Given the description of an element on the screen output the (x, y) to click on. 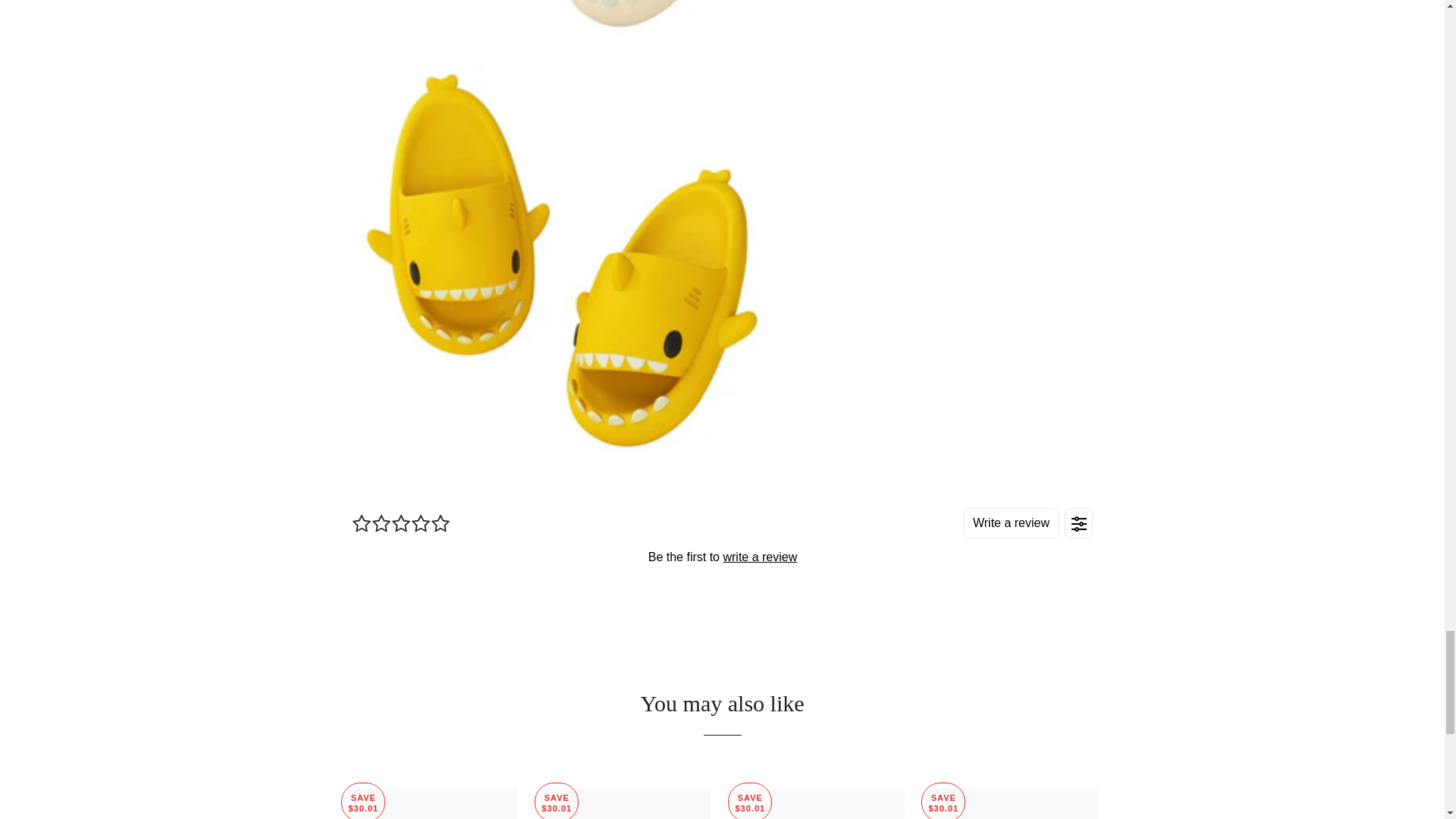
Product reviews widget (722, 556)
